Given the description of an element on the screen output the (x, y) to click on. 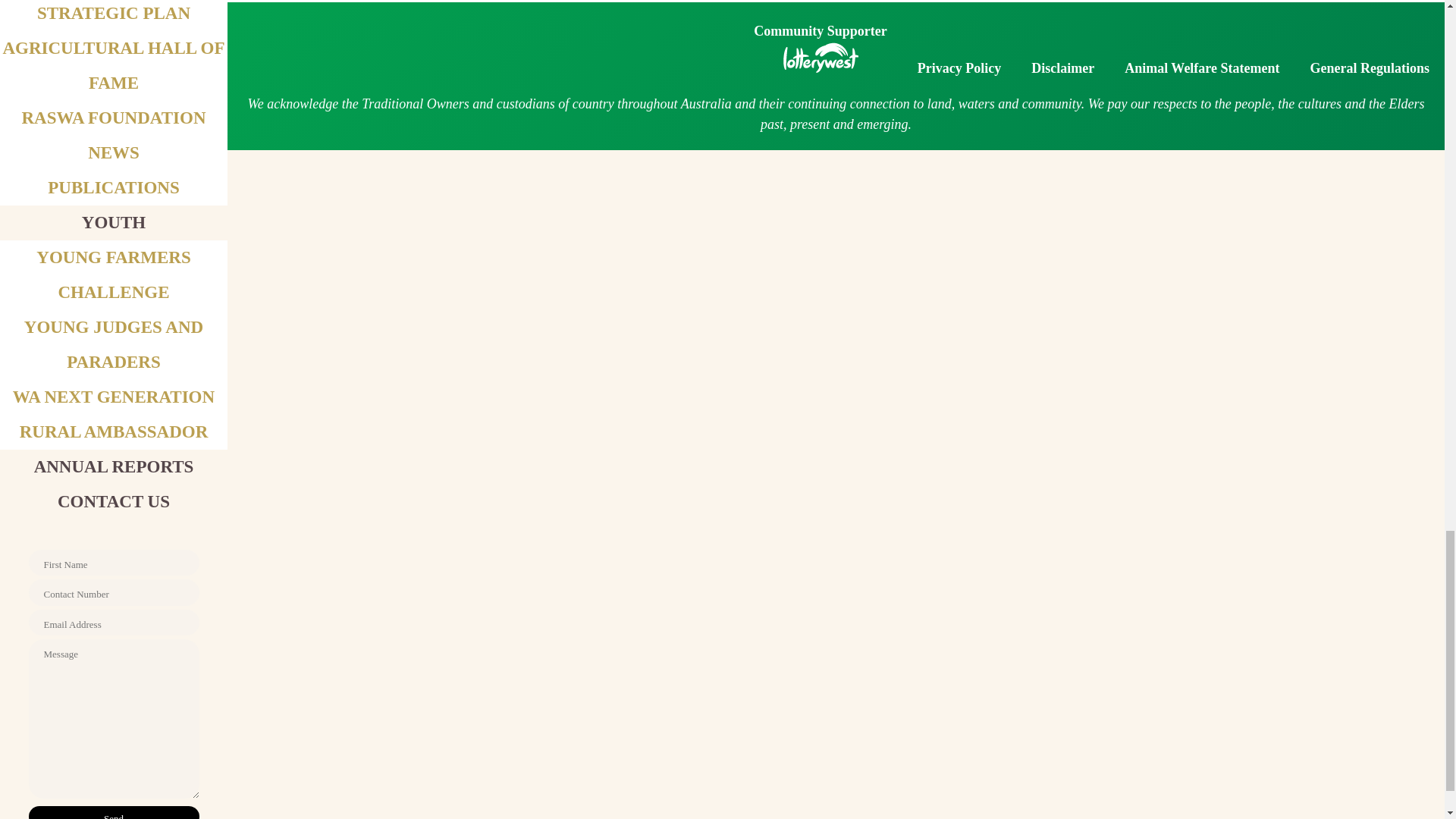
PUBLICATIONS (113, 187)
RASWA FOUNDATION (113, 117)
Send (114, 812)
YOUNG FARMERS CHALLENGE (113, 275)
YOUTH (113, 221)
NEWS (113, 152)
AGRICULTURAL HALL OF FAME (113, 65)
STRATEGIC PLAN (113, 13)
